Given the description of an element on the screen output the (x, y) to click on. 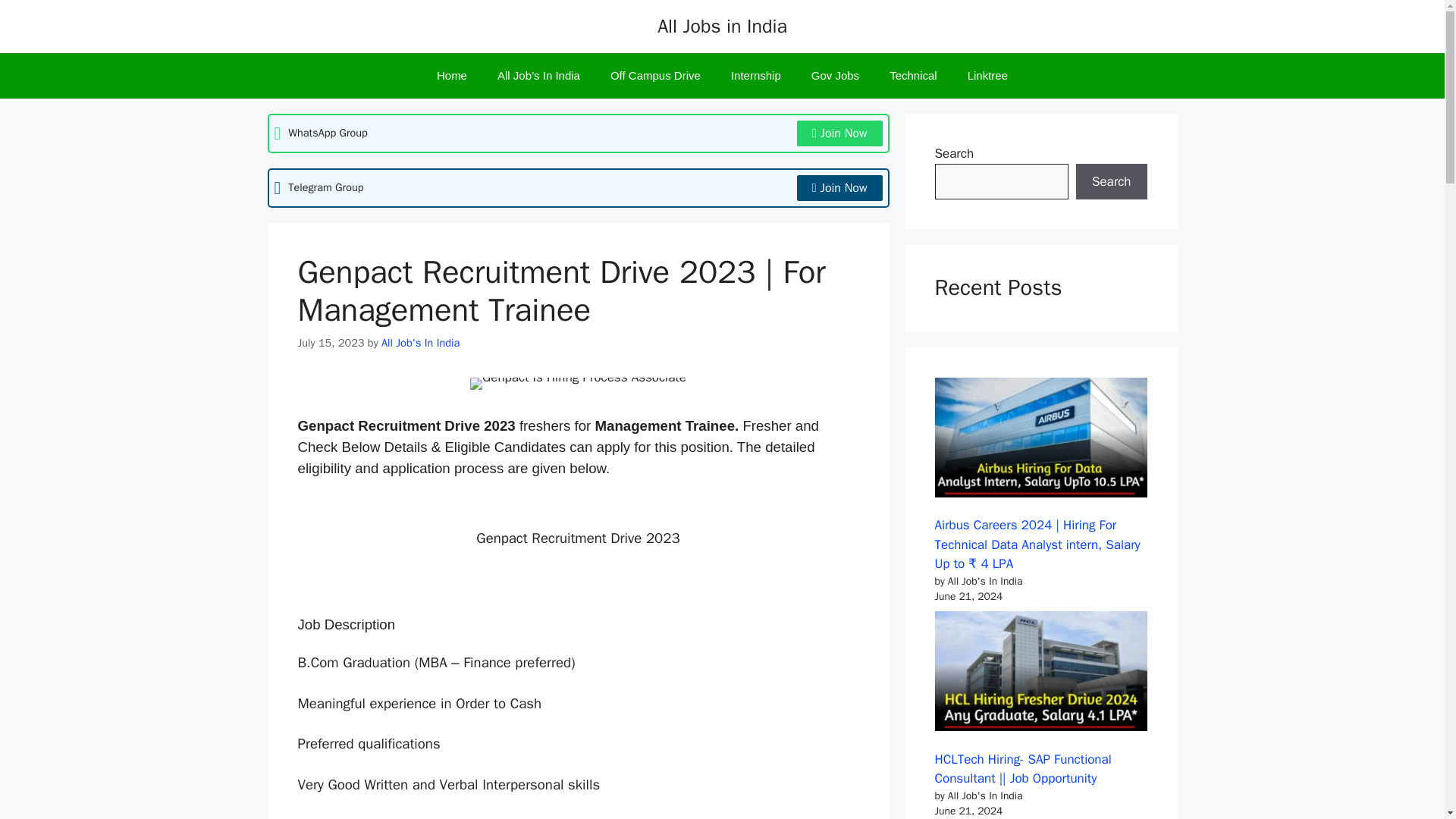
View all posts by All Job's In India (420, 342)
All Jobs in India (722, 25)
Join Now (839, 133)
Internship (756, 75)
Gov Jobs (835, 75)
Home (451, 75)
All Job's In India (420, 342)
Search (1111, 181)
Off Campus Drive (655, 75)
Technical (913, 75)
